Given the description of an element on the screen output the (x, y) to click on. 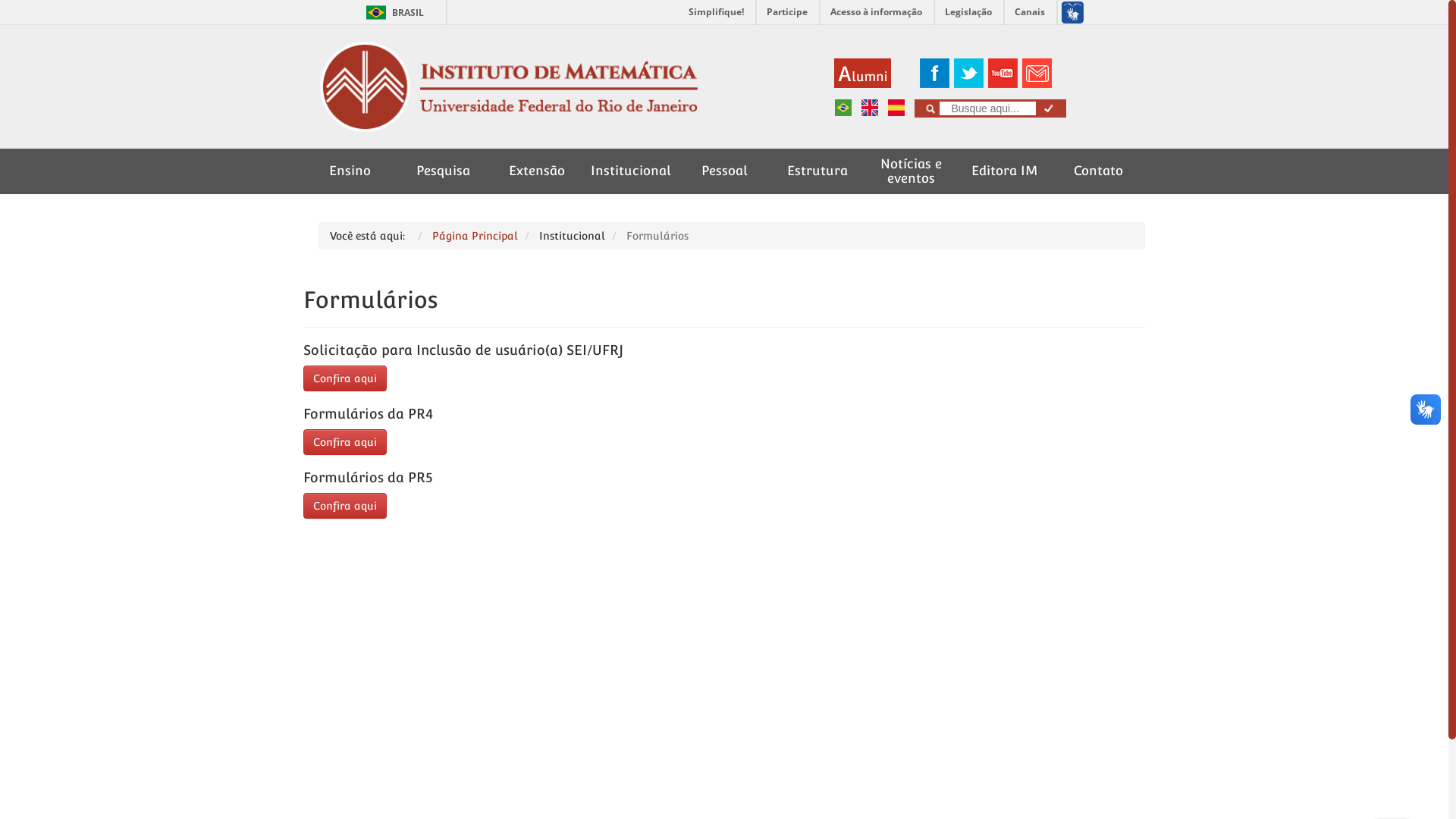
Confira aqui Element type: text (344, 377)
Confira aqui Element type: text (344, 505)
Confira aqui Element type: text (344, 441)
Contato Element type: text (1098, 170)
Confira aqui Element type: text (344, 378)
Confira aqui Element type: text (344, 442)
Confira aqui Element type: text (344, 504)
BRASIL Element type: text (376, 12)
